Given the description of an element on the screen output the (x, y) to click on. 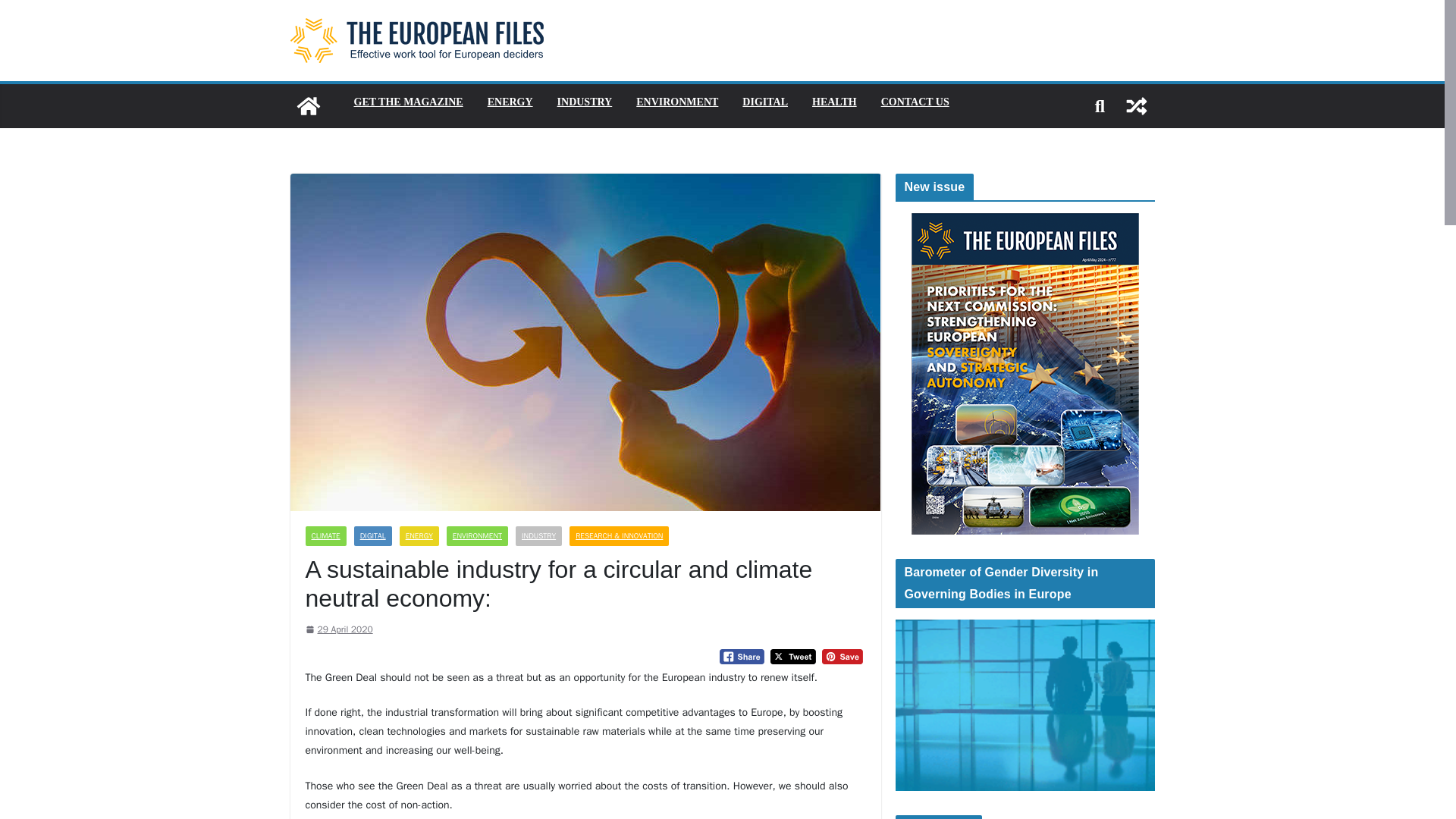
The European Files (307, 105)
CLIMATE (325, 536)
CONTACT US (914, 102)
ENVIRONMENT (477, 536)
HEALTH (834, 102)
INDUSTRY (584, 102)
View a random post (1136, 105)
ENVIRONMENT (676, 102)
11 h 04 min (338, 629)
29 April 2020 (338, 629)
DIGITAL (372, 536)
Facebook Share (741, 656)
ENERGY (509, 102)
GET THE MAGAZINE (408, 102)
Tweet (792, 656)
